Given the description of an element on the screen output the (x, y) to click on. 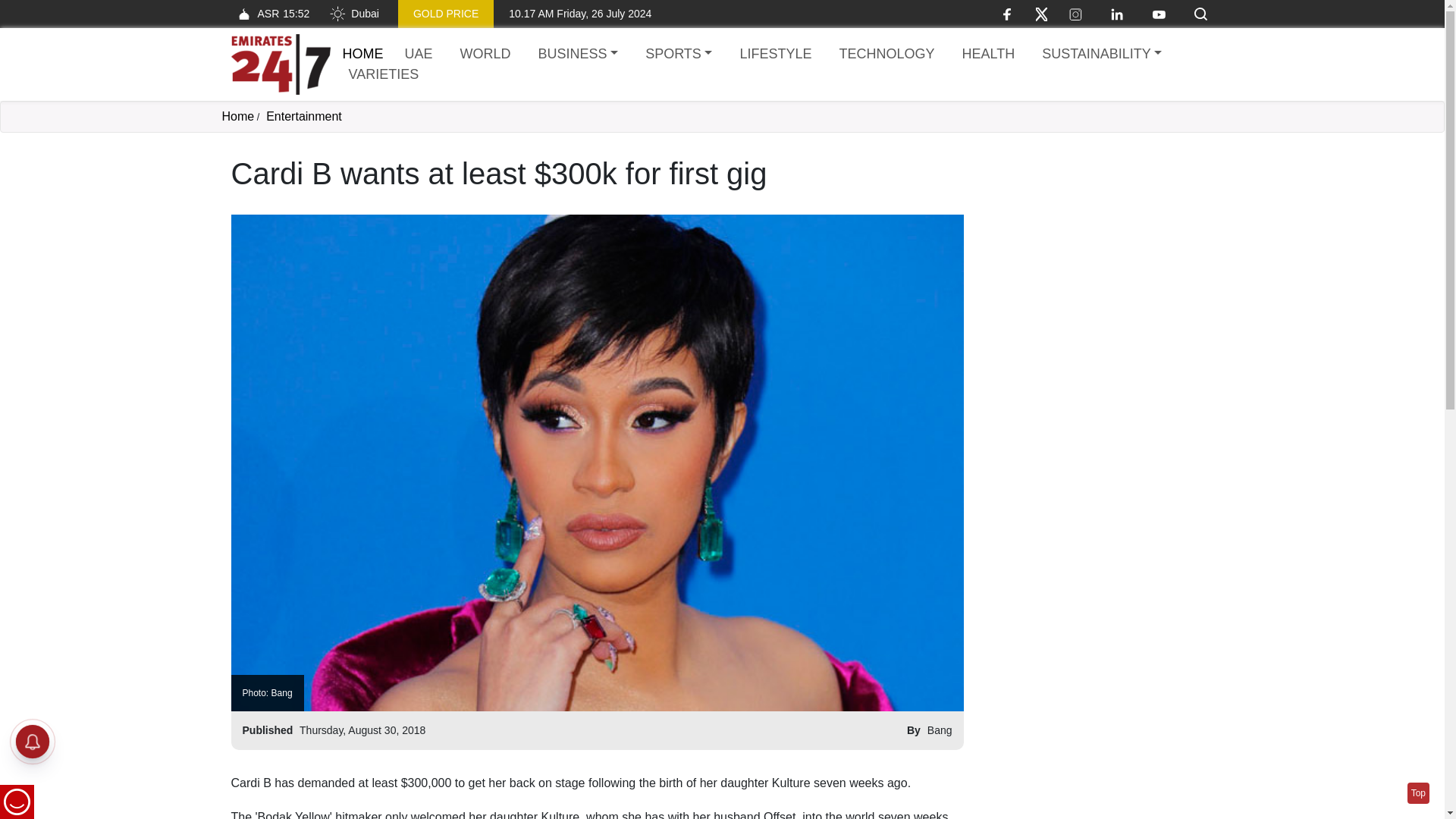
Dubai (353, 13)
HOME (363, 53)
GOLD PRICE (445, 13)
TECHNOLOGY (886, 54)
Home (363, 53)
LIFESTYLE (774, 54)
WORLD (485, 54)
UAE (418, 54)
SUSTAINABILITY (1101, 54)
Go to top (1418, 792)
HEALTH (987, 54)
VARIETIES (383, 74)
Entertainment (304, 115)
Home (280, 64)
SPORTS (678, 54)
